Given the description of an element on the screen output the (x, y) to click on. 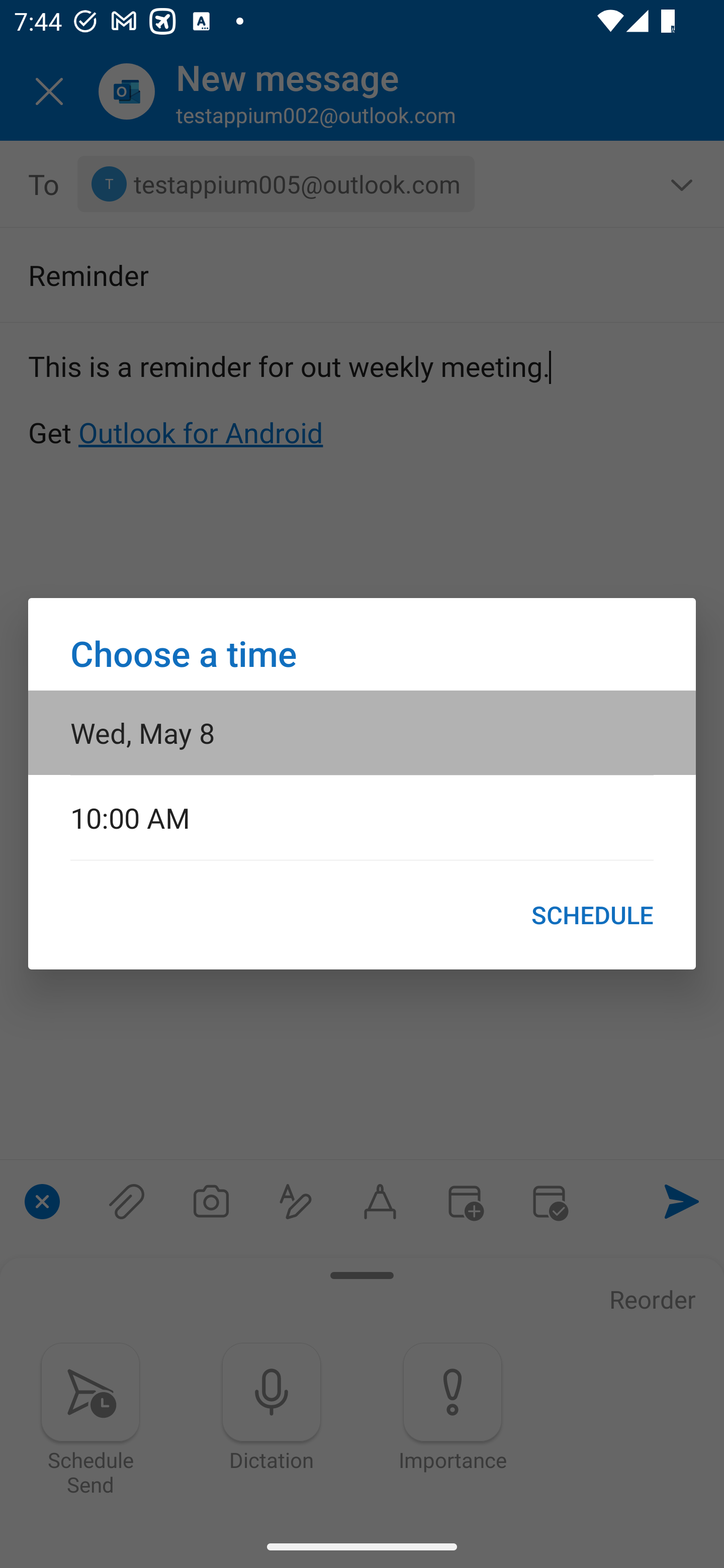
Wed, May 8 Choose date Wed, May 8 (361, 731)
10:00 AM Choose time 10:00 AM (361, 817)
SCHEDULE (592, 914)
